Given the description of an element on the screen output the (x, y) to click on. 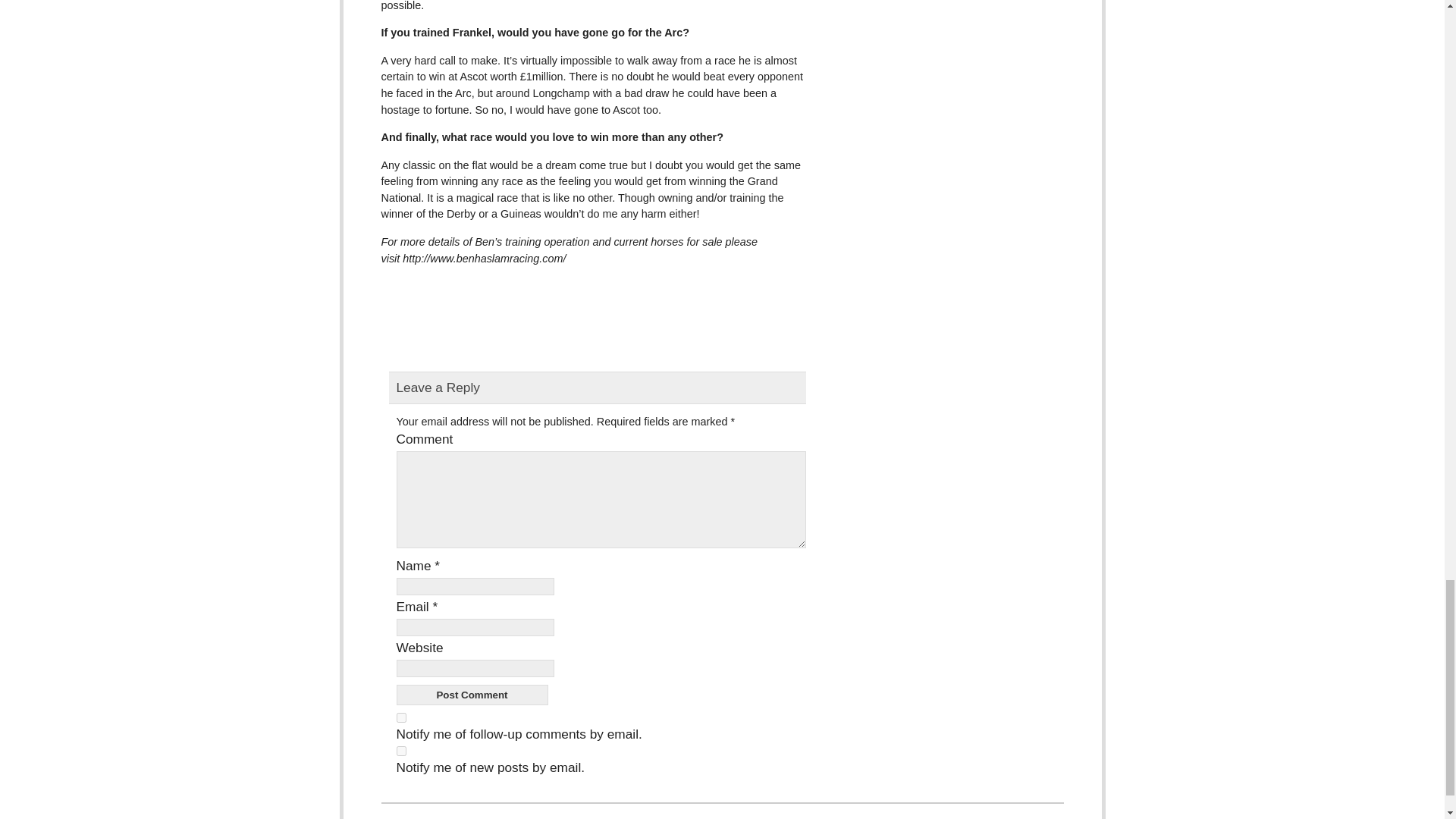
Post Comment (471, 694)
Post Comment (471, 694)
subscribe (401, 717)
subscribe (401, 750)
